Given the description of an element on the screen output the (x, y) to click on. 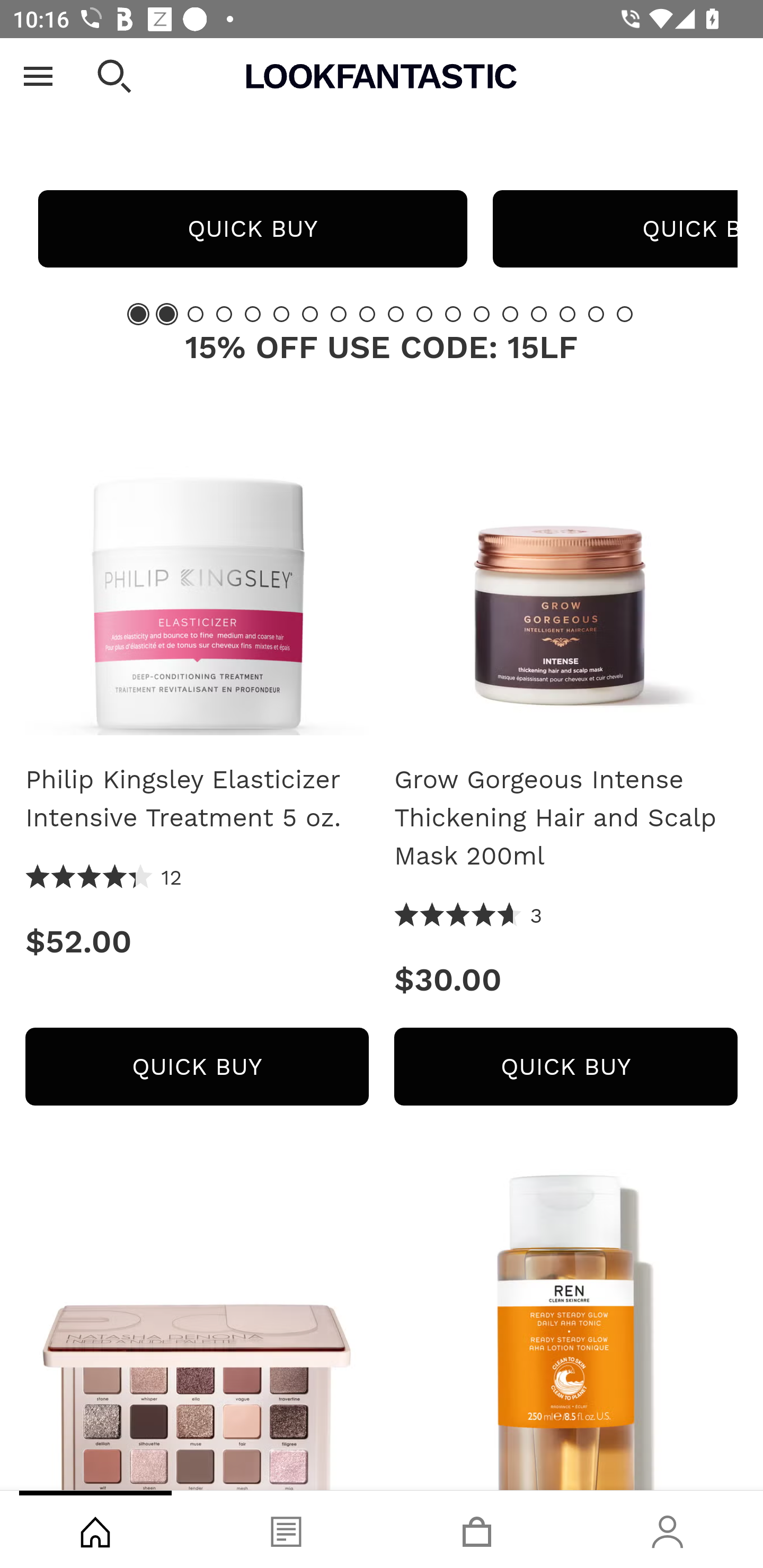
QUICK BUY NATASHA DENONA I NEED A NUDE PALETTE (252, 228)
Showing Slide 1 (Current Item) (138, 314)
Showing Slide 2 (Current Item) (166, 314)
Slide 3 (195, 314)
Slide 4 (223, 314)
Slide 5 (252, 314)
Slide 6 (281, 314)
Slide 7 (310, 314)
Slide 8 (338, 314)
Slide 9 (367, 314)
Slide 10 (395, 314)
Slide 11 (424, 314)
Slide 12 (452, 314)
Slide 13 (481, 314)
Slide 14 (510, 314)
Slide 15 (539, 314)
Slide 16 (567, 314)
Slide 17 (596, 314)
Slide 18 (624, 314)
4.33 Stars 12 Reviews (104, 877)
4.67 Stars 3 Reviews (468, 916)
Price: $52.00 (196, 941)
Price: $30.00 (565, 979)
Natasha Denona I Need A Nude Palette (196, 1329)
Shop, tab, 1 of 4 (95, 1529)
Blog, tab, 2 of 4 (285, 1529)
Basket, tab, 3 of 4 (476, 1529)
Account, tab, 4 of 4 (667, 1529)
